Given the description of an element on the screen output the (x, y) to click on. 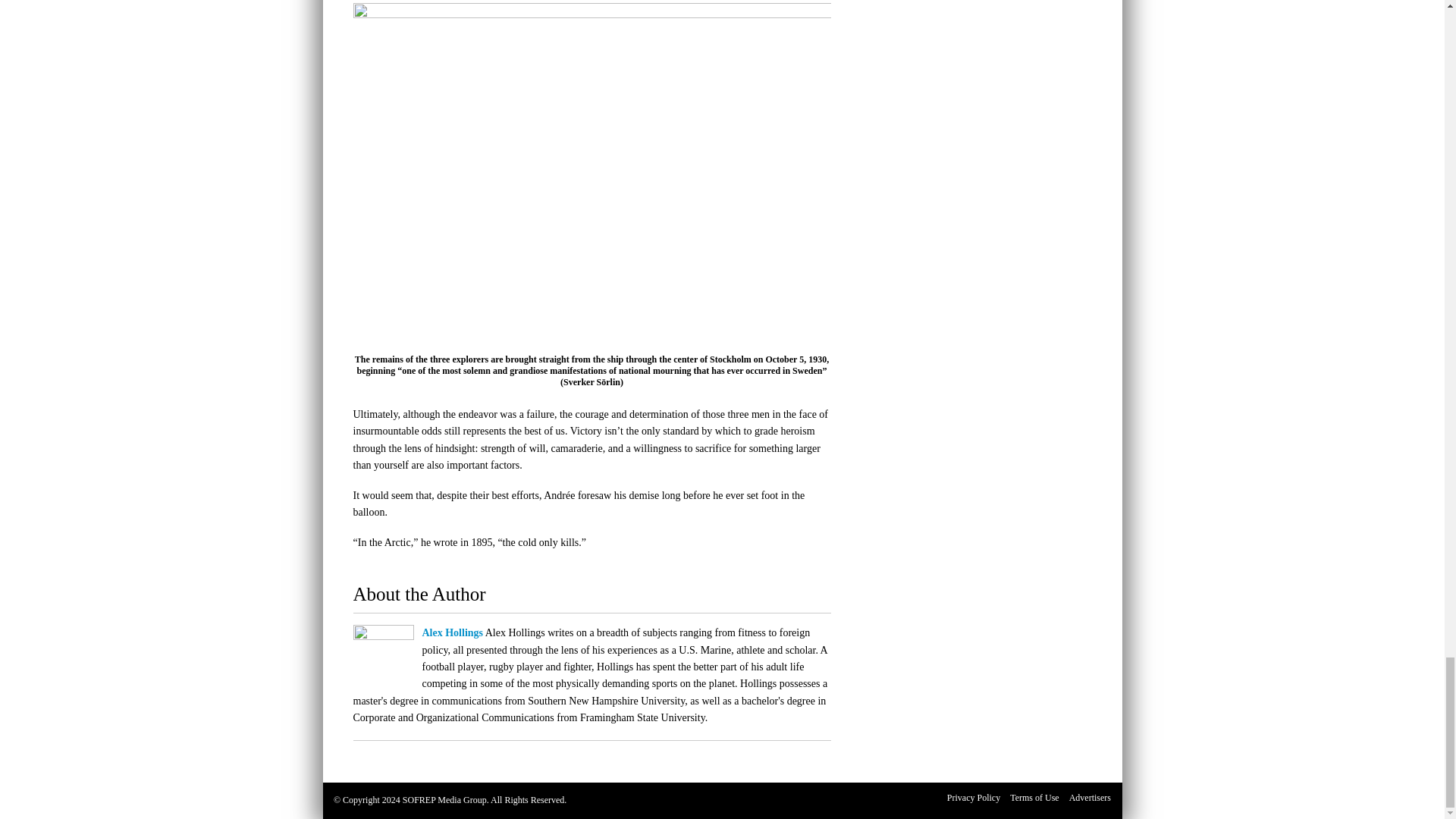
Terms of Use (1034, 797)
Advertisers (1089, 797)
Posts by Alex Hollings (452, 632)
SOFREP Media Group (444, 799)
Privacy Policy (973, 797)
Alex Hollings (452, 632)
